Given the description of an element on the screen output the (x, y) to click on. 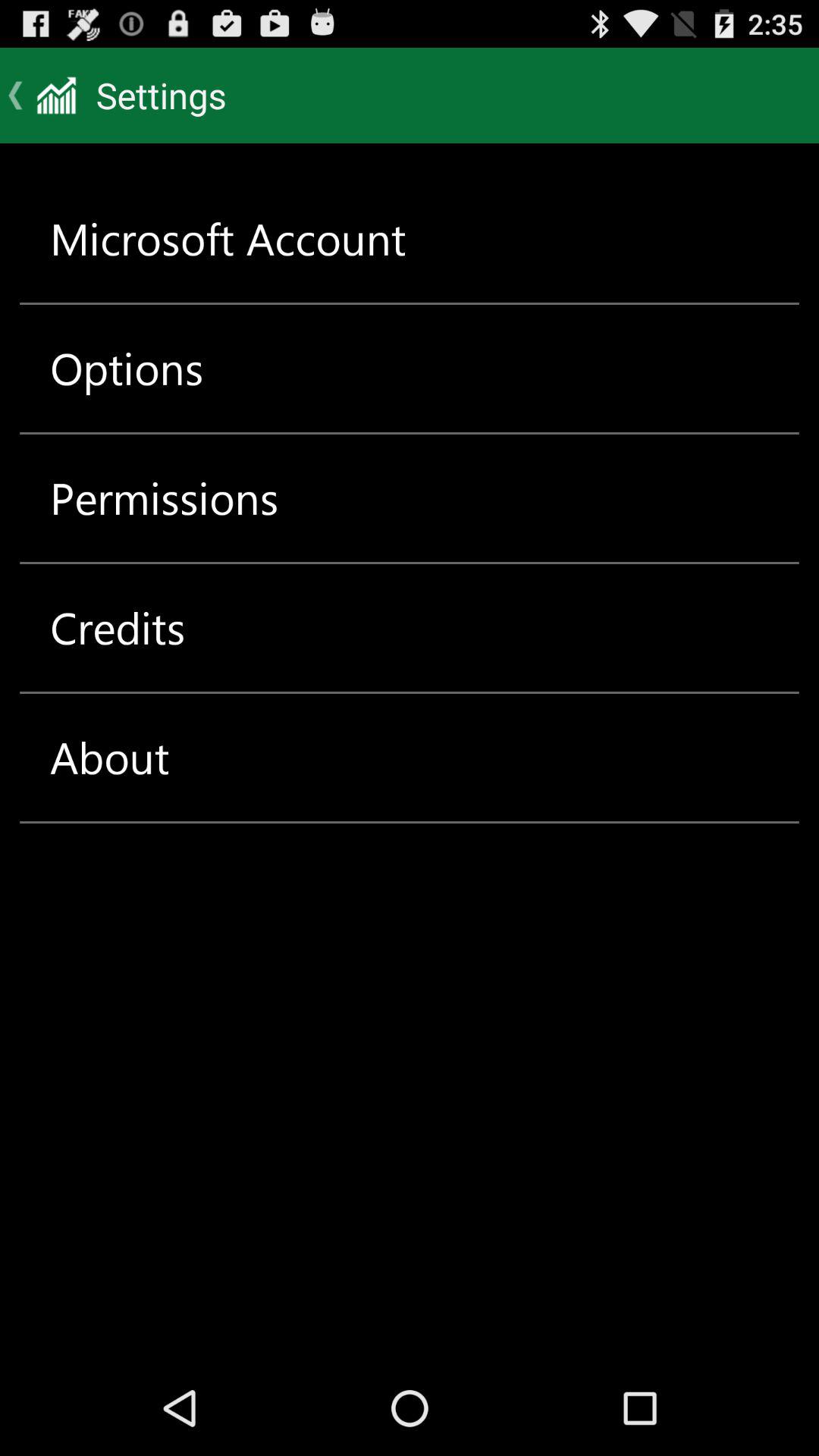
press the icon below options (164, 497)
